Given the description of an element on the screen output the (x, y) to click on. 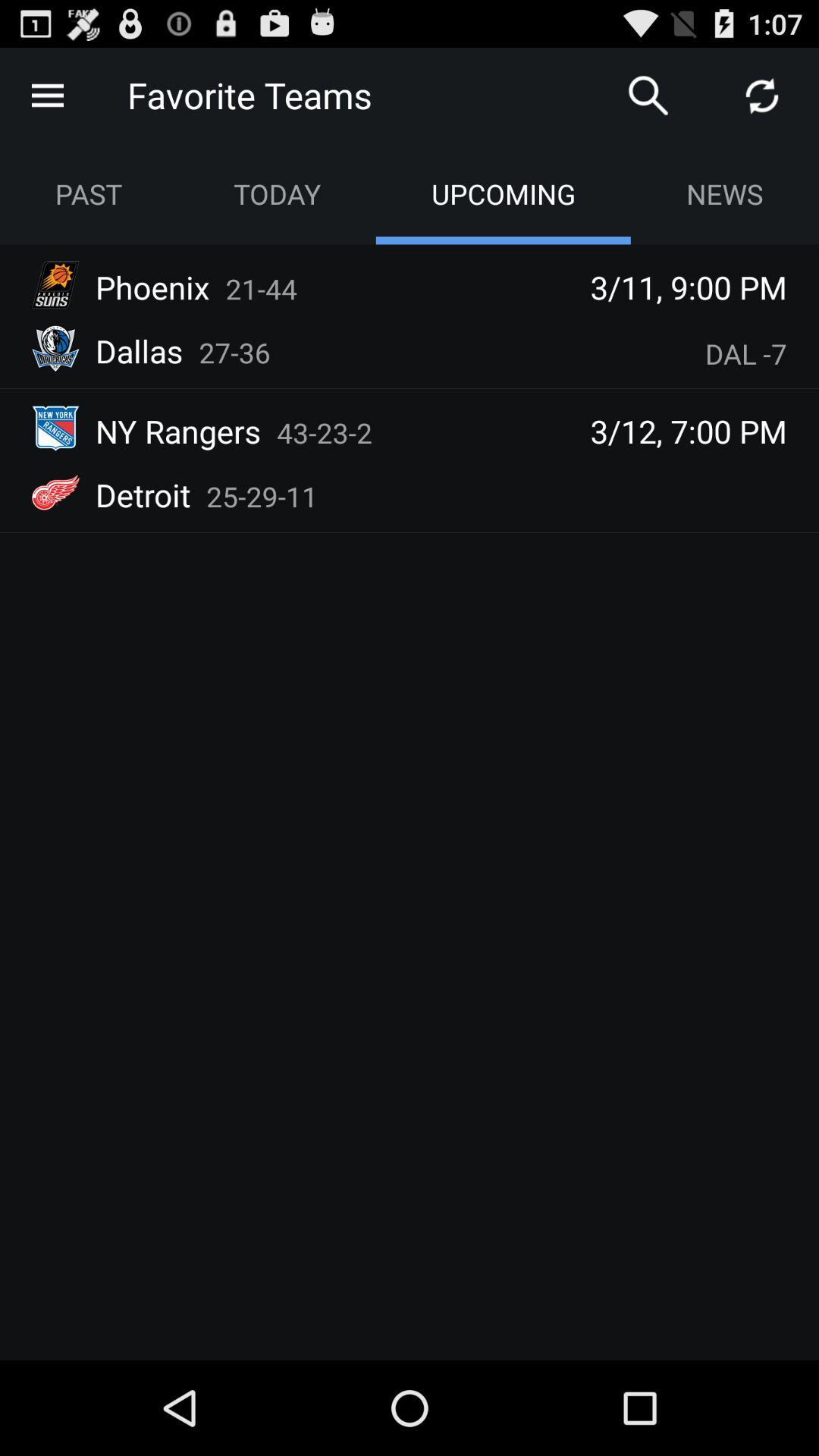
turn on item next to the 25-29-11 (142, 494)
